Given the description of an element on the screen output the (x, y) to click on. 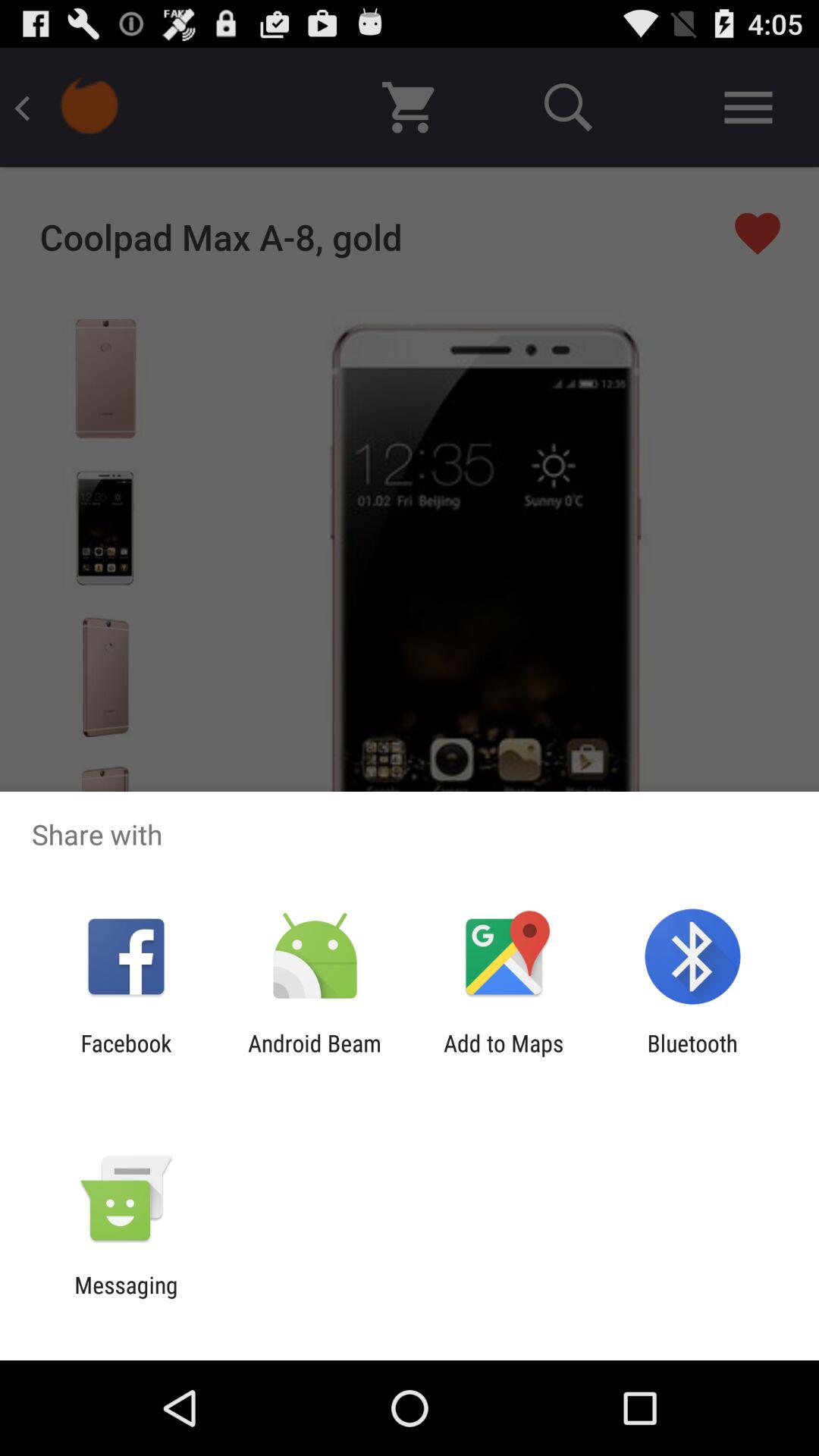
turn off the icon next to the facebook item (314, 1056)
